Given the description of an element on the screen output the (x, y) to click on. 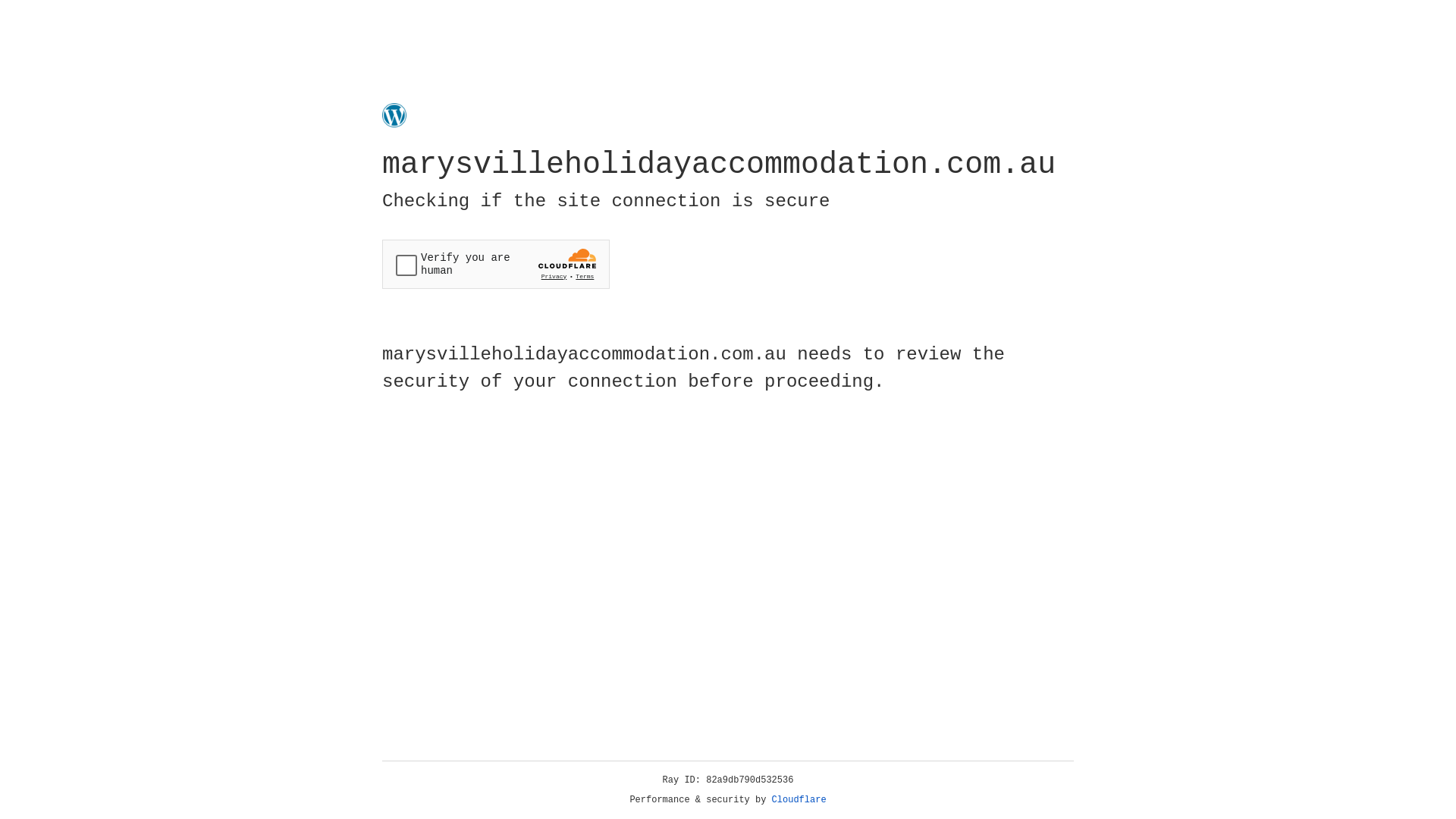
Cloudflare Element type: text (798, 799)
Widget containing a Cloudflare security challenge Element type: hover (495, 263)
